Given the description of an element on the screen output the (x, y) to click on. 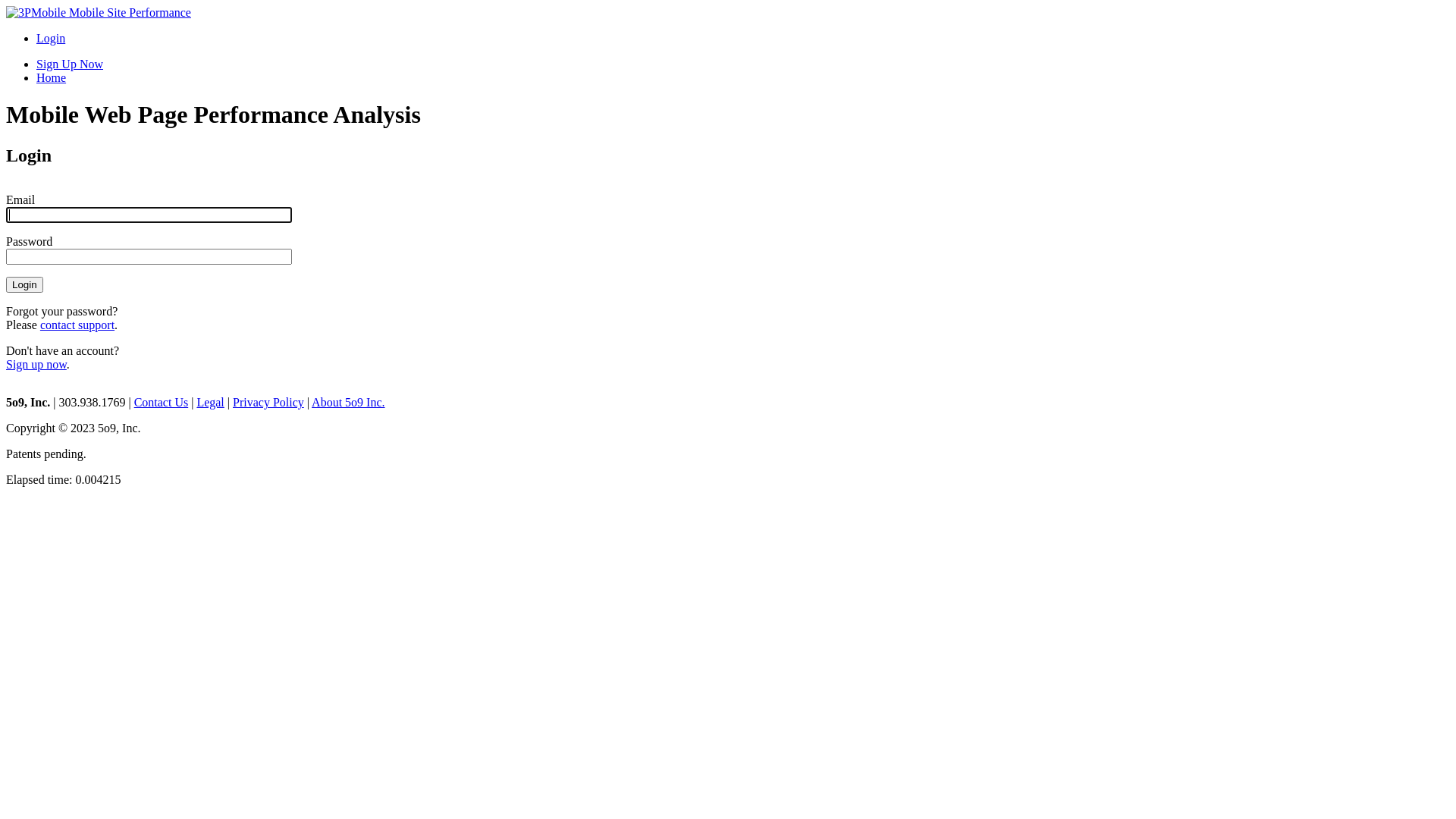
Sign Up Now Element type: text (69, 63)
Privacy Policy Element type: text (268, 401)
About 5o9 Inc. Element type: text (347, 401)
contact support Element type: text (77, 324)
Sign up now Element type: text (36, 363)
Contact Us Element type: text (161, 401)
Login Element type: text (24, 284)
Login Element type: text (50, 37)
Home Element type: text (50, 77)
Legal Element type: text (209, 401)
